Given the description of an element on the screen output the (x, y) to click on. 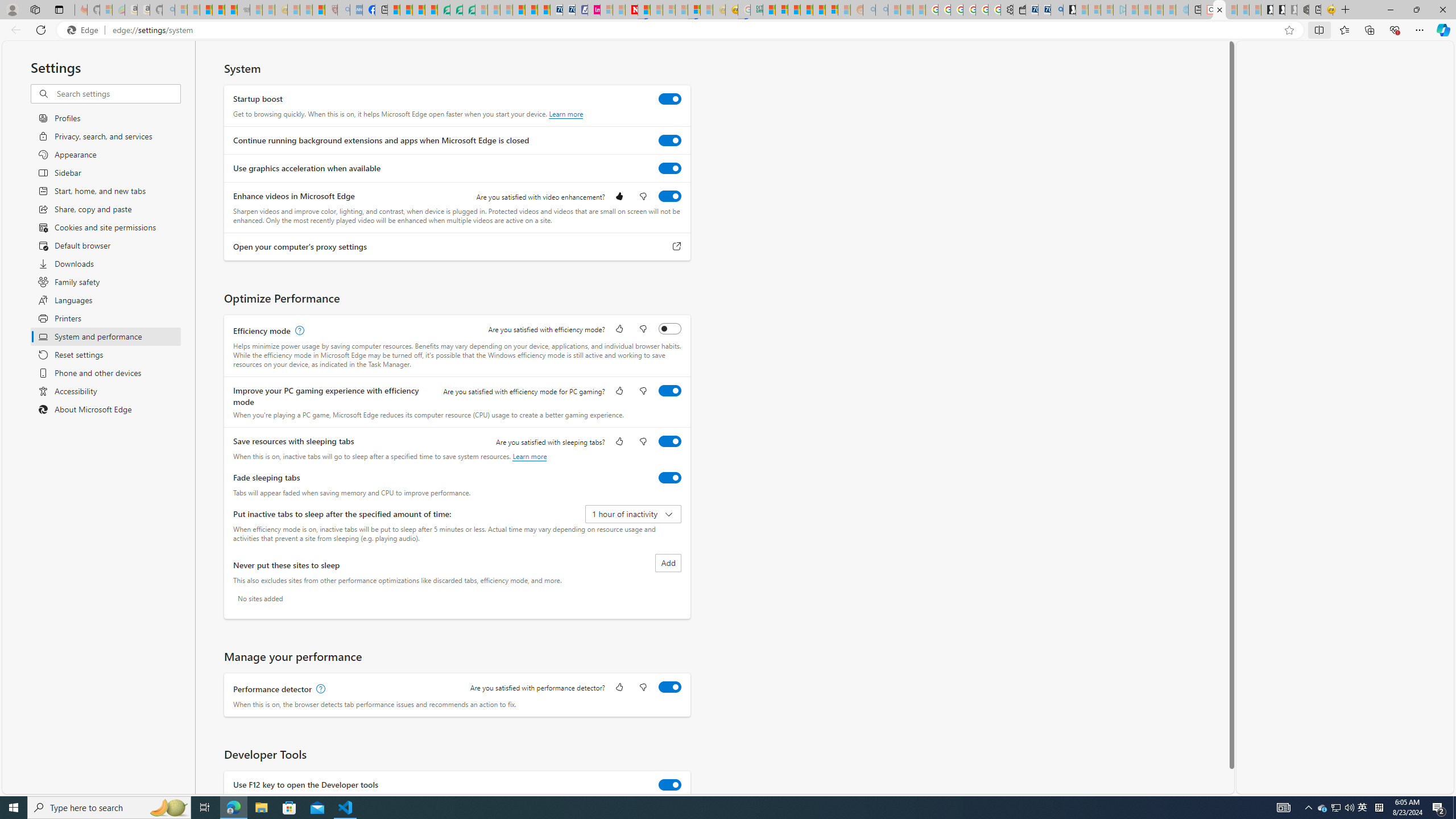
Performance detector, learn more (319, 688)
New Tab (1346, 9)
Workspaces (34, 9)
NCL Adult Asthma Inhaler Choice Guideline - Sleeping (355, 9)
Combat Siege (243, 9)
Performance detector (669, 686)
Add this page to favorites (Ctrl+D) (1289, 29)
MSNBC - MSN (769, 9)
